Given the description of an element on the screen output the (x, y) to click on. 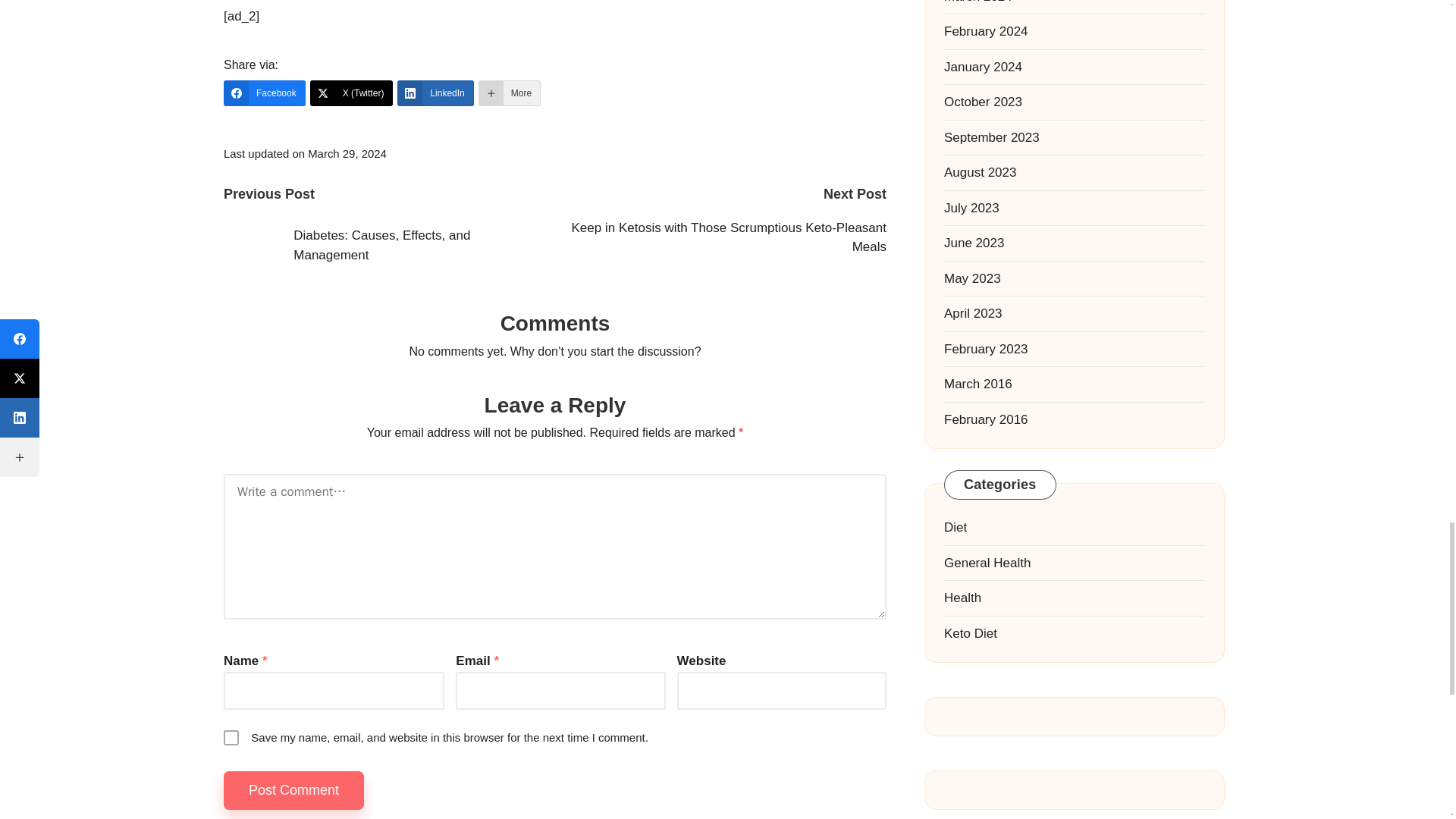
LinkedIn (435, 93)
Diabetes: Causes, Effects, and Management (389, 245)
More (509, 93)
Keep in Ketosis with Those Scrumptious Keto-Pleasant Meals (720, 237)
Facebook (264, 93)
yes (231, 737)
Post Comment (294, 790)
Diabetes: Causes, Effects, and Management 2 (251, 245)
Post Comment (294, 790)
